Given the description of an element on the screen output the (x, y) to click on. 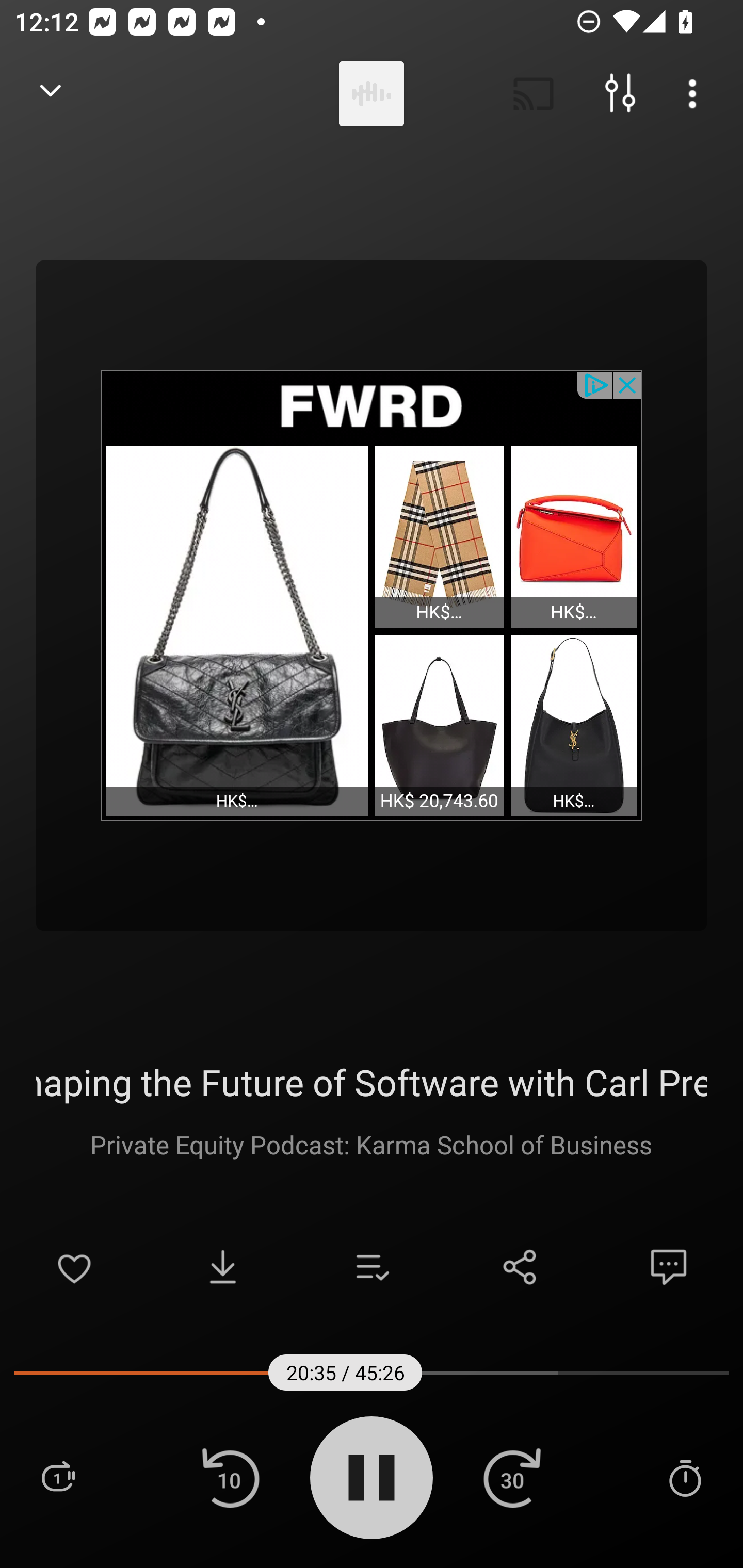
Cast. Disconnected (533, 93)
 Back (50, 94)
privacy_small (595, 384)
close_button (627, 384)
 HK$… 
    HK$… (237, 630)
 HK$… 
    HK$… (438, 536)
 HK$… 
    HK$ 20,743.60 (573, 536)
 HK$… 
    HK$… (438, 725)
 HK$… 
    HK$… (573, 725)
Private Equity Podcast: Karma School of Business (371, 1144)
Comments (668, 1266)
Add to Favorites (73, 1266)
Add to playlist (371, 1266)
Share (519, 1266)
 Playlist (57, 1477)
Sleep Timer  (684, 1477)
